Given the description of an element on the screen output the (x, y) to click on. 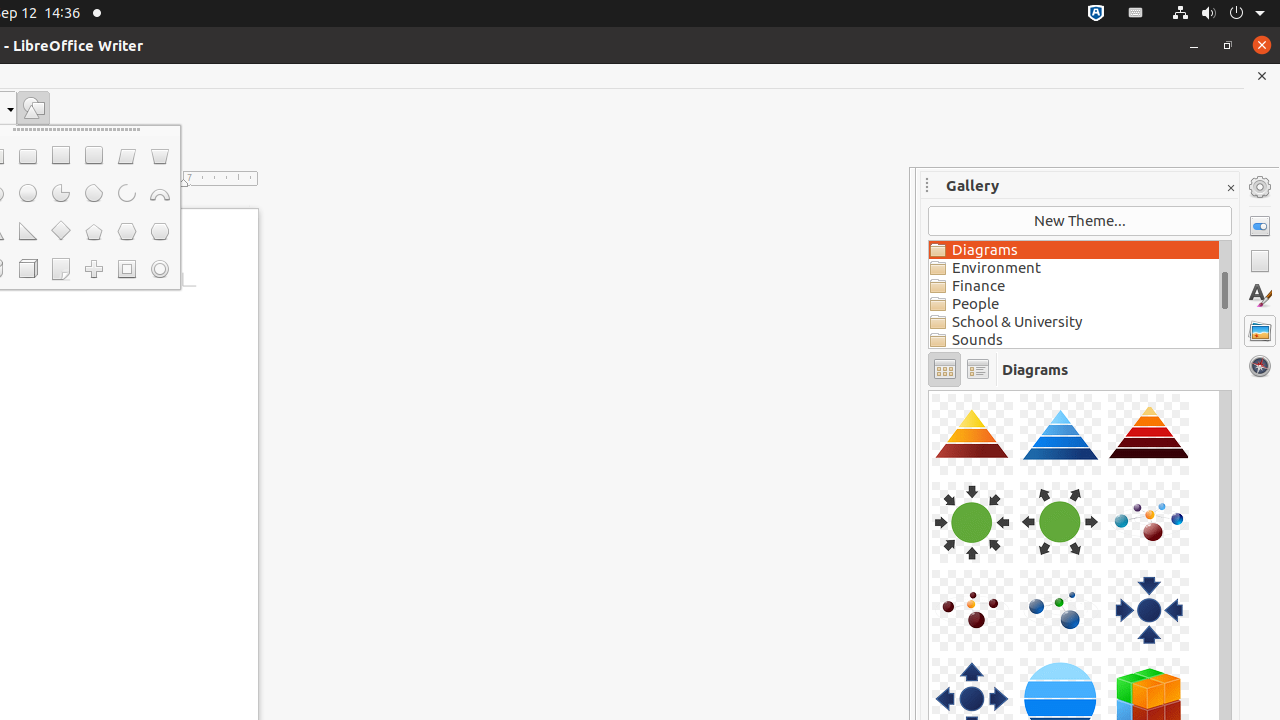
Styles Element type: radio-button (1260, 296)
Component-PuzzlePiece03-Green Element type: list-item (929, 390)
Frame Element type: toggle-button (126, 269)
Component-PuzzlePiece05-Orange Element type: list-item (929, 390)
Rectangle, Rounded Element type: toggle-button (27, 155)
